Given the description of an element on the screen output the (x, y) to click on. 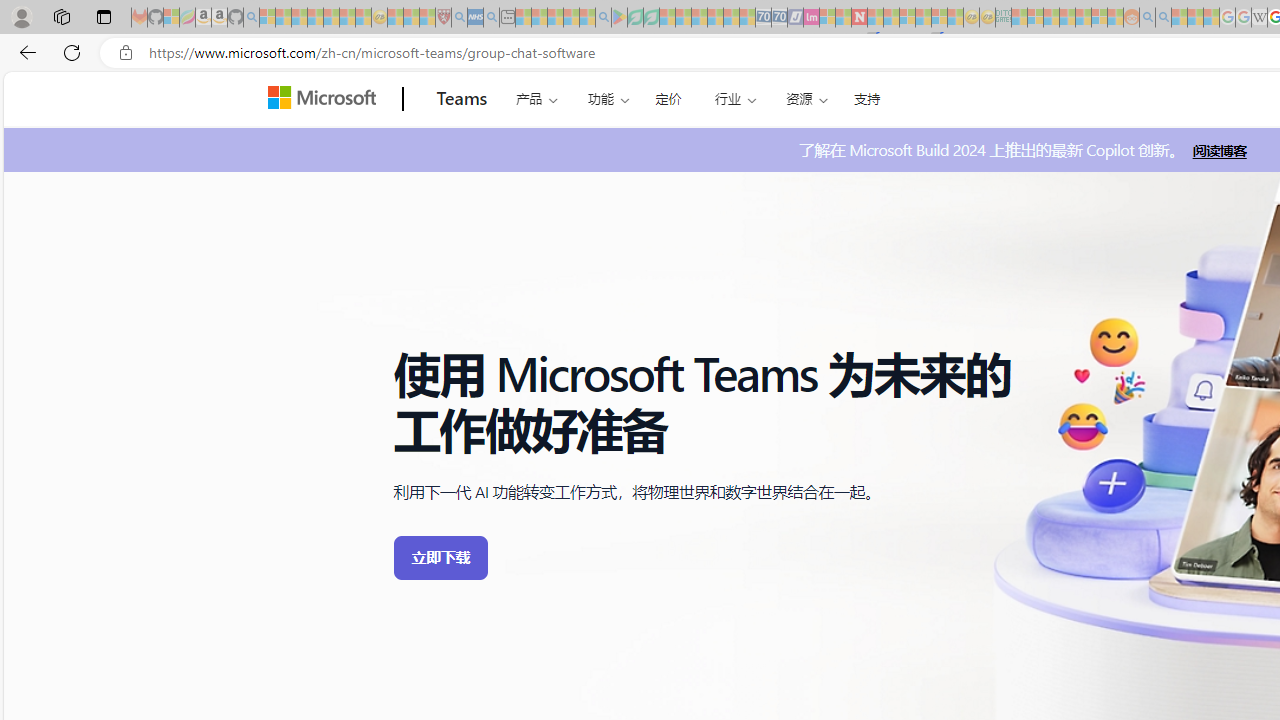
Kinda Frugal - MSN - Sleeping (1083, 17)
Latest Politics News & Archive | Newsweek.com - Sleeping (859, 17)
Utah sues federal government - Search - Sleeping (1163, 17)
Expert Portfolios - Sleeping (1067, 17)
14 Common Myths Debunked By Scientific Facts - Sleeping (891, 17)
Teams (461, 99)
